Given the description of an element on the screen output the (x, y) to click on. 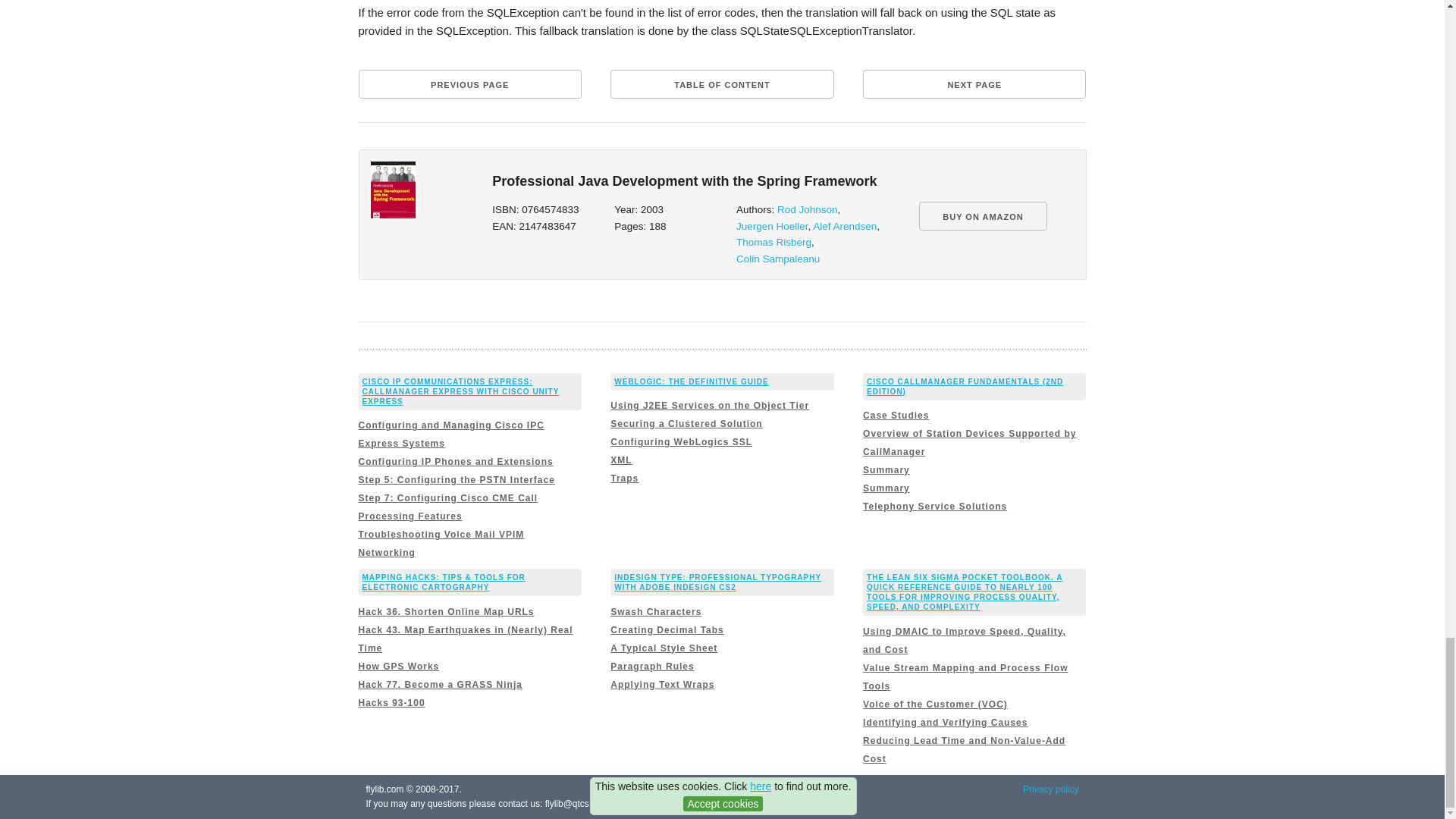
Colin Sampaleanu (777, 258)
PREVIOUS PAGE (469, 83)
XML (620, 460)
Configuring WebLogics SSL (681, 441)
Creating Decimal Tabs (666, 629)
Juergen Hoeller (772, 225)
WEBLOGIC: THE DEFINITIVE GUIDE (691, 381)
Case Studies (895, 415)
Traps (624, 478)
NEXT PAGE (974, 83)
